Given the description of an element on the screen output the (x, y) to click on. 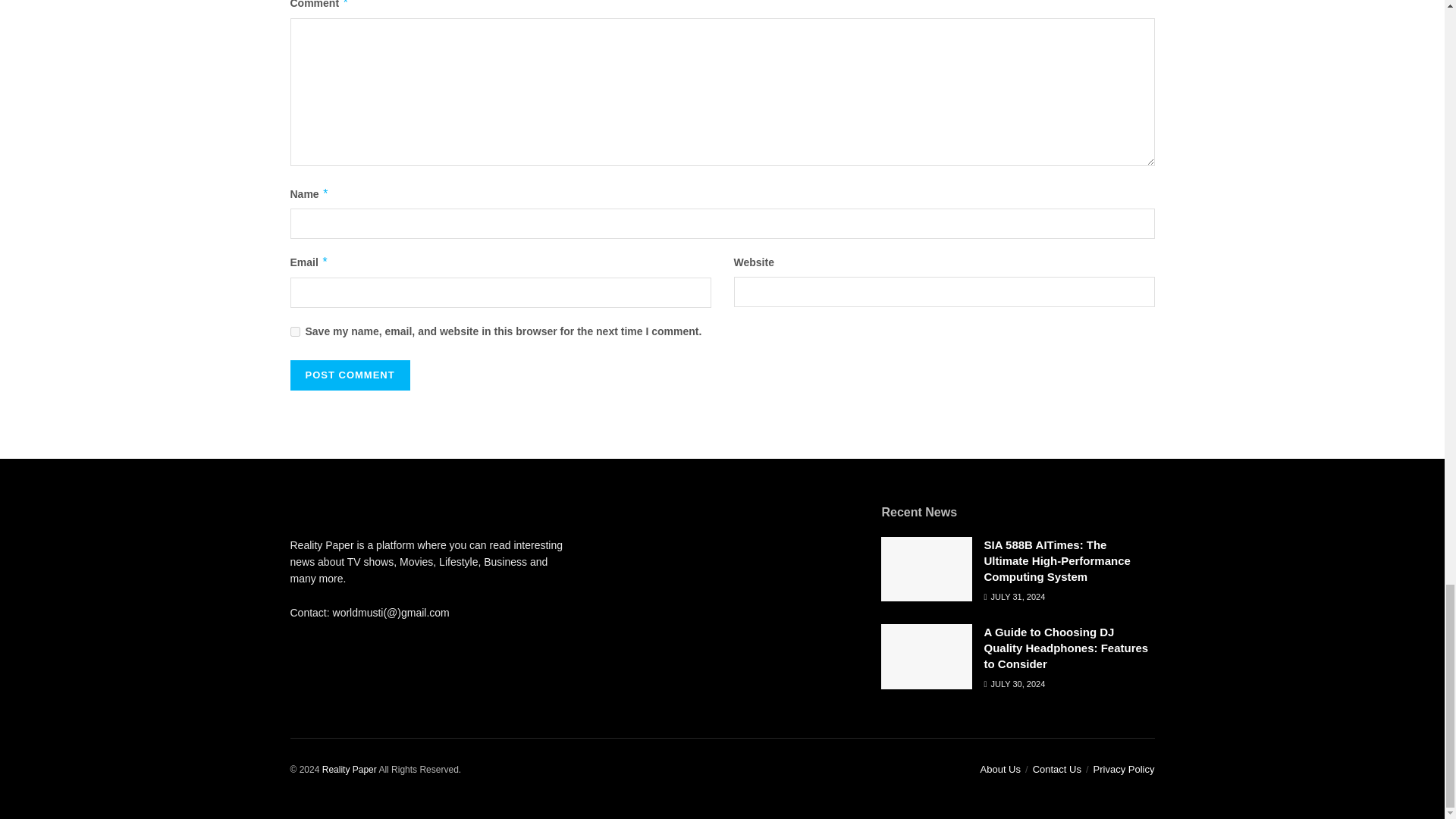
Post Comment (349, 375)
yes (294, 331)
